Given the description of an element on the screen output the (x, y) to click on. 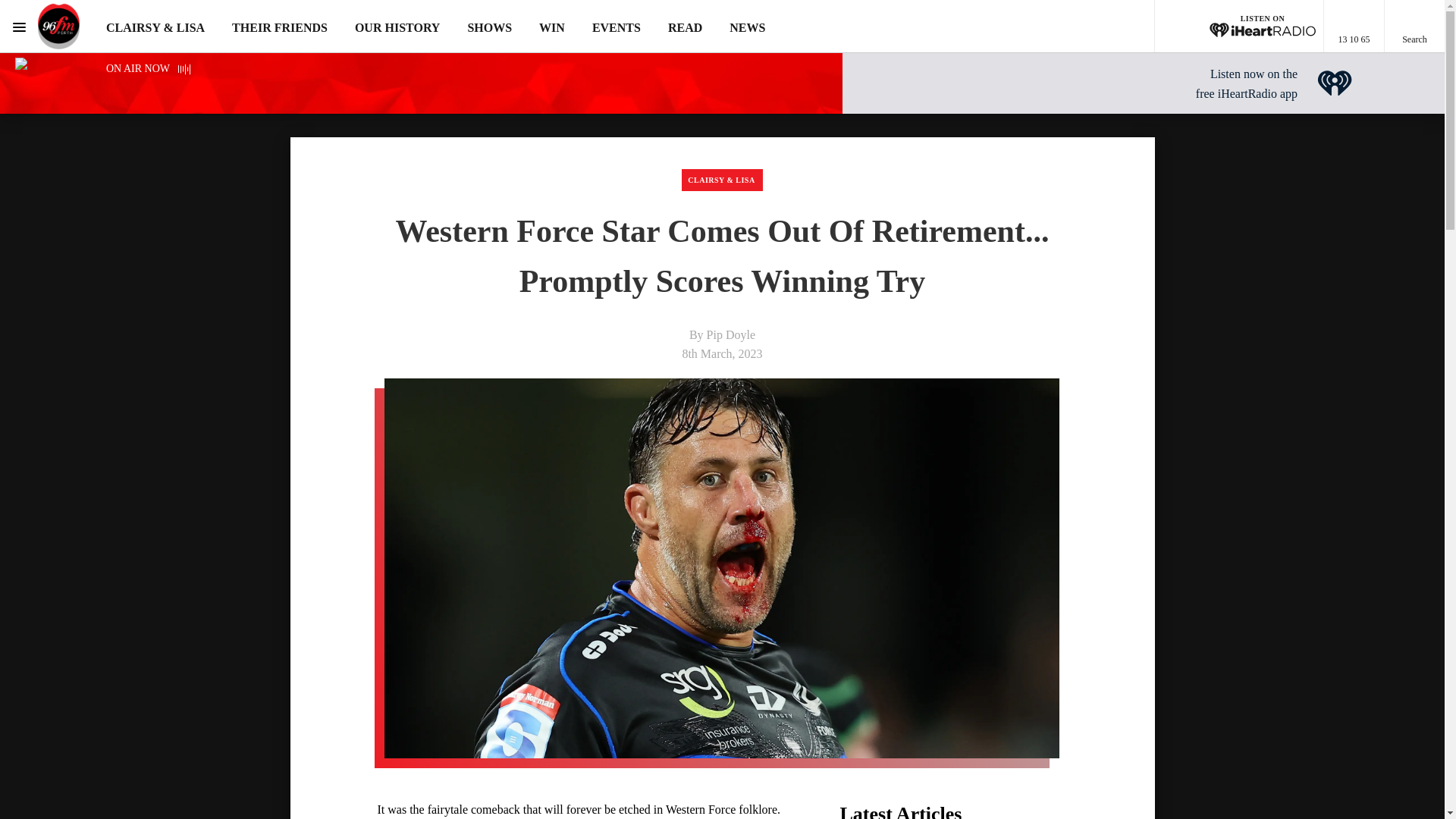
THEIR FRIENDS (279, 26)
EVENTS (616, 26)
13 10 65 (1353, 26)
OUR HISTORY (398, 26)
LISTEN ON (1238, 26)
iHeart (1334, 82)
